Given the description of an element on the screen output the (x, y) to click on. 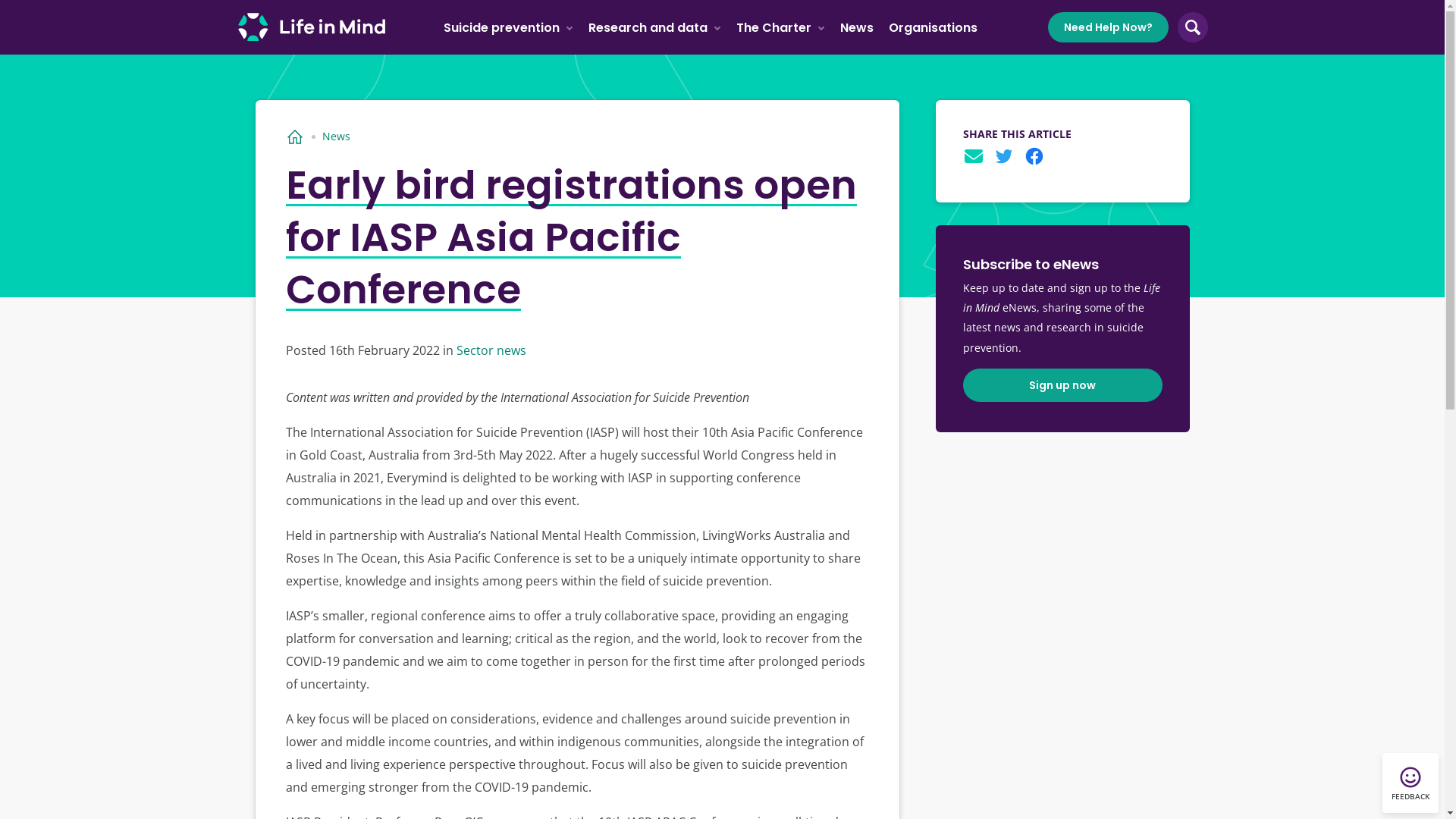
Home Element type: hover (294, 135)
Organisations Element type: text (932, 26)
Need Help Now? Element type: text (1108, 27)
Email this page to a friend Element type: hover (973, 156)
The Charter Element type: text (780, 26)
News Element type: text (336, 135)
Share this page on Facebook Element type: hover (1033, 156)
Research and data Element type: text (654, 26)
Suicide prevention Element type: text (508, 26)
Sector news Element type: text (491, 350)
Share this page on Twitter Element type: hover (1003, 156)
Sign up now Element type: text (1062, 384)
News Element type: text (856, 26)
